Given the description of an element on the screen output the (x, y) to click on. 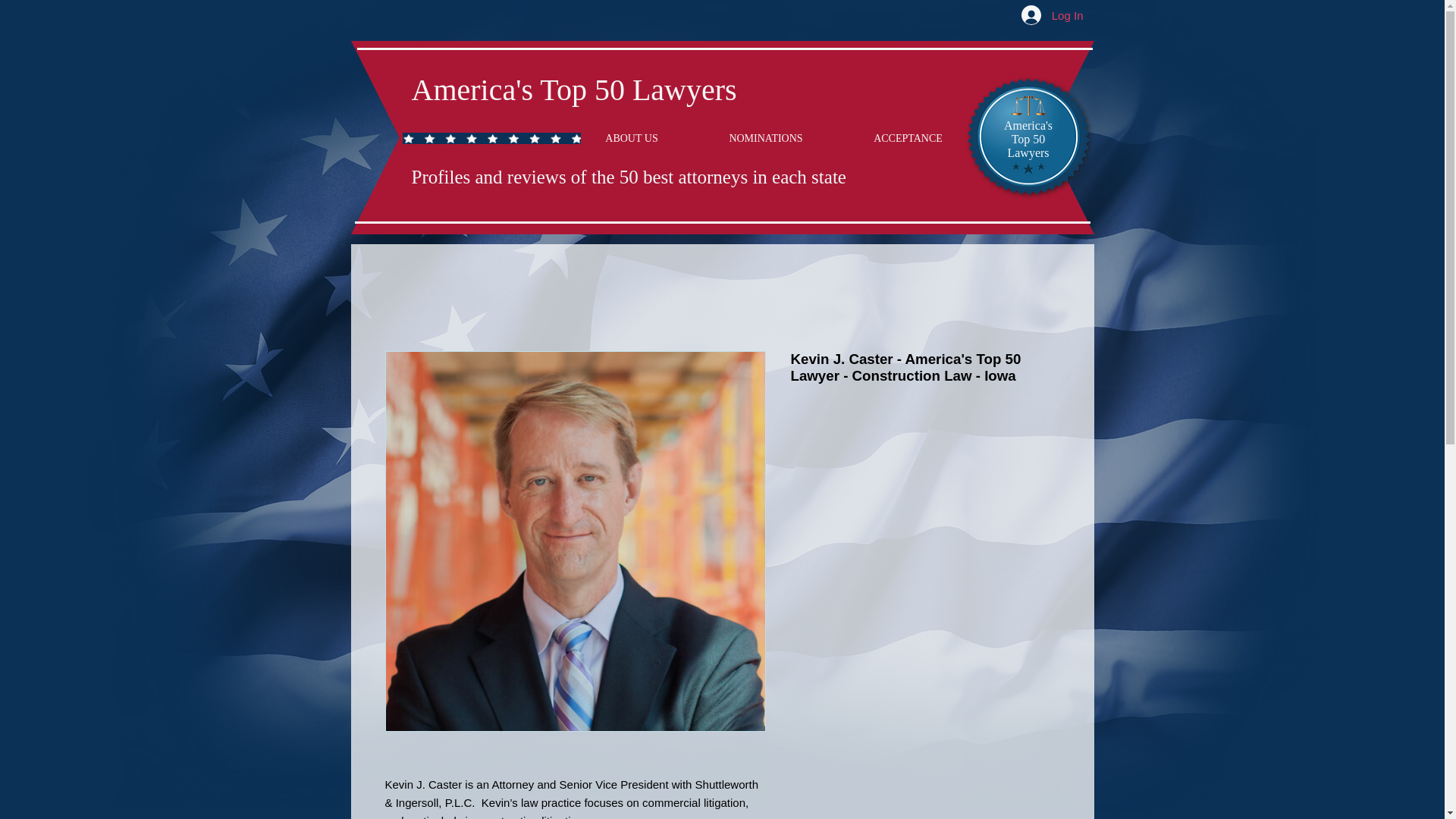
America's Top 50 Lawyers (573, 89)
Log In (1052, 14)
ACCEPTANCE (908, 138)
Profiles and reviews of the 50 best attorneys in each state (627, 177)
NOMINATIONS (765, 138)
ABOUT US (632, 138)
